Given the description of an element on the screen output the (x, y) to click on. 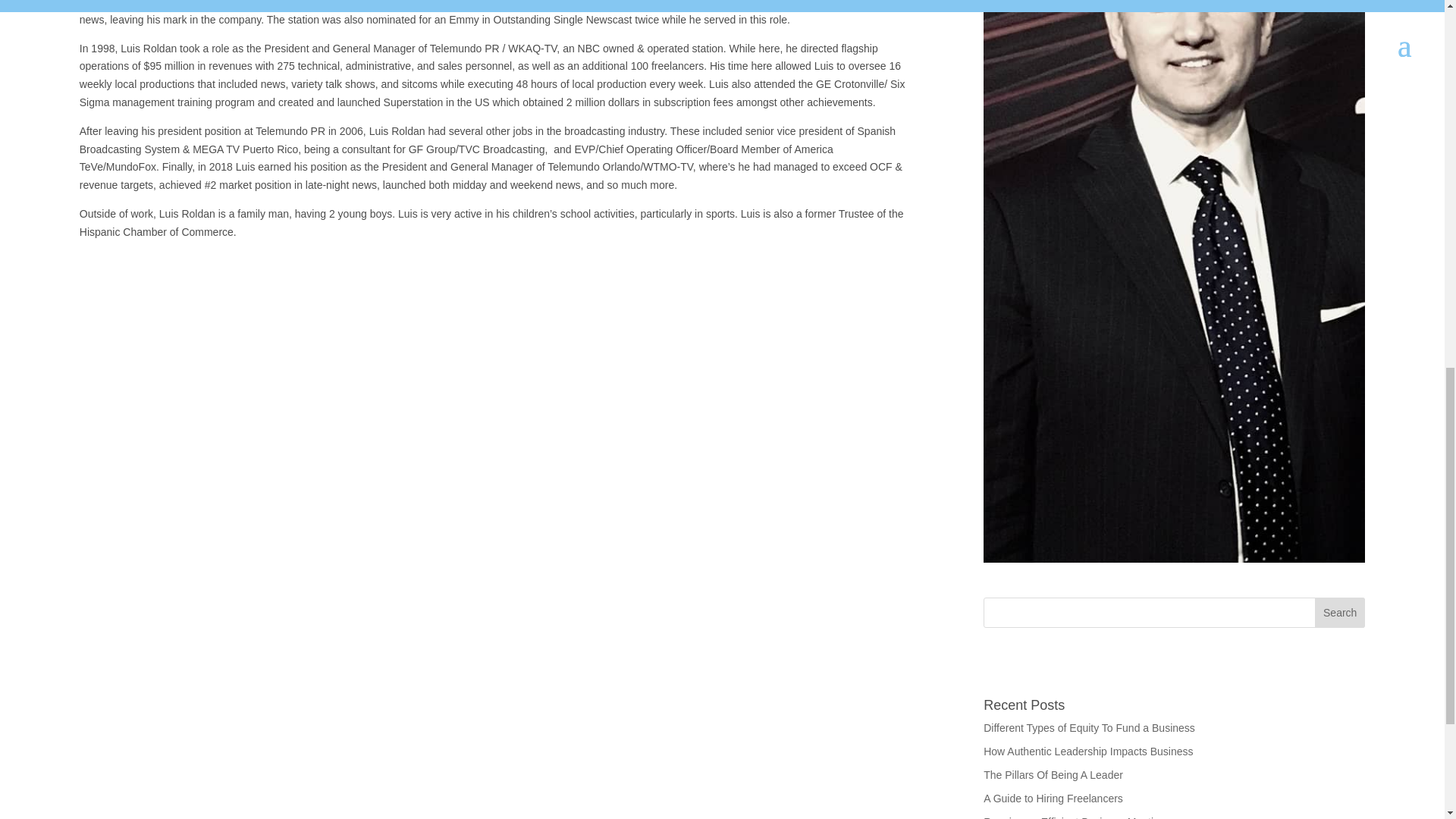
Search (1339, 612)
How Authentic Leadership Impacts Business (1088, 751)
A Guide to Hiring Freelancers (1053, 798)
Different Types of Equity To Fund a Business (1089, 727)
The Pillars Of Being A Leader (1053, 775)
Search (1339, 612)
Running an Efficient Business Meeting (1074, 817)
